Given the description of an element on the screen output the (x, y) to click on. 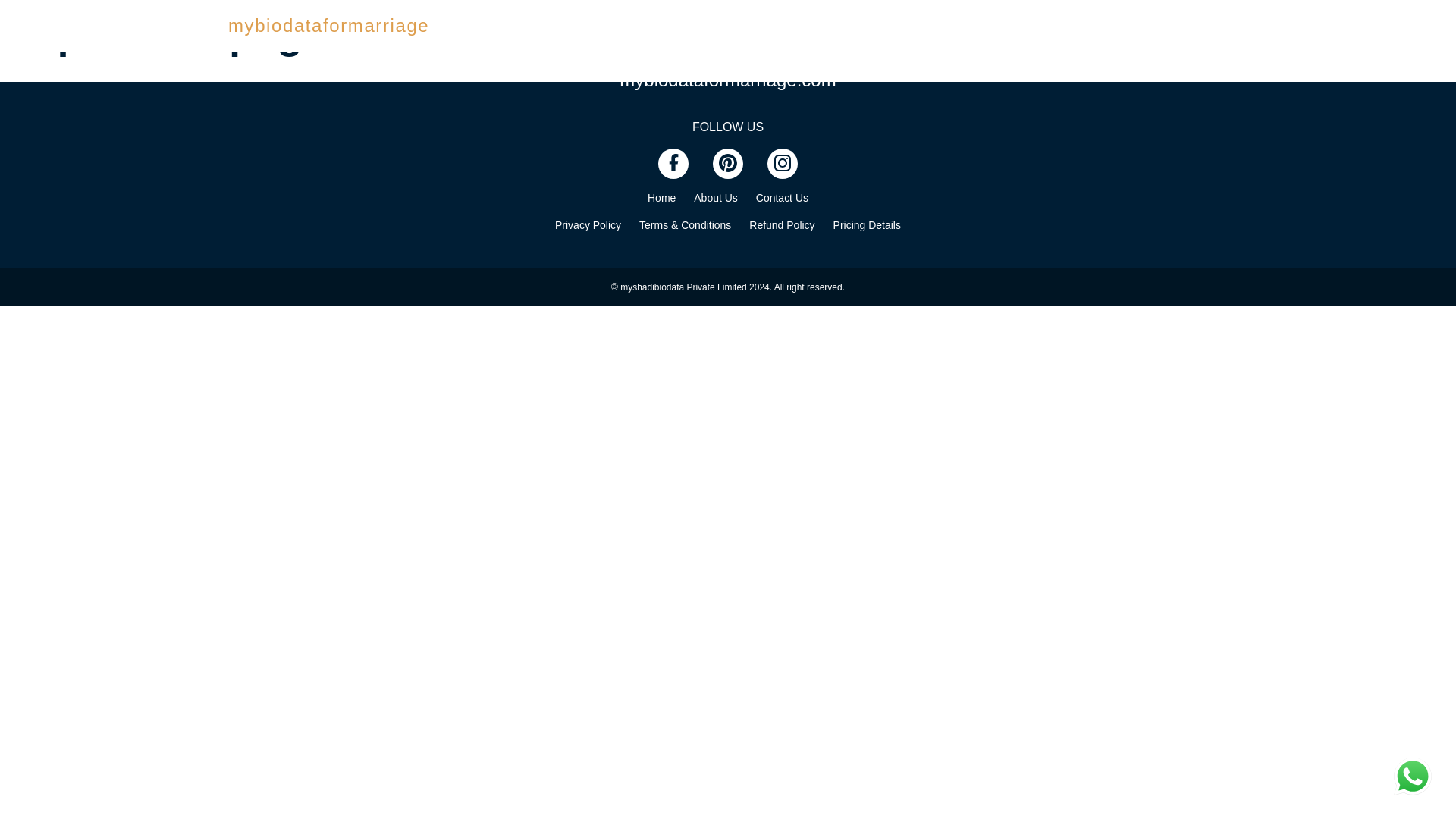
Refund Policy (781, 224)
Home (661, 197)
mybiodataformarriage.com (727, 80)
Contact Us (781, 197)
Pricing Details (866, 224)
Privacy Policy (587, 224)
mybiodataformarriage (328, 25)
About Us (716, 197)
